Given the description of an element on the screen output the (x, y) to click on. 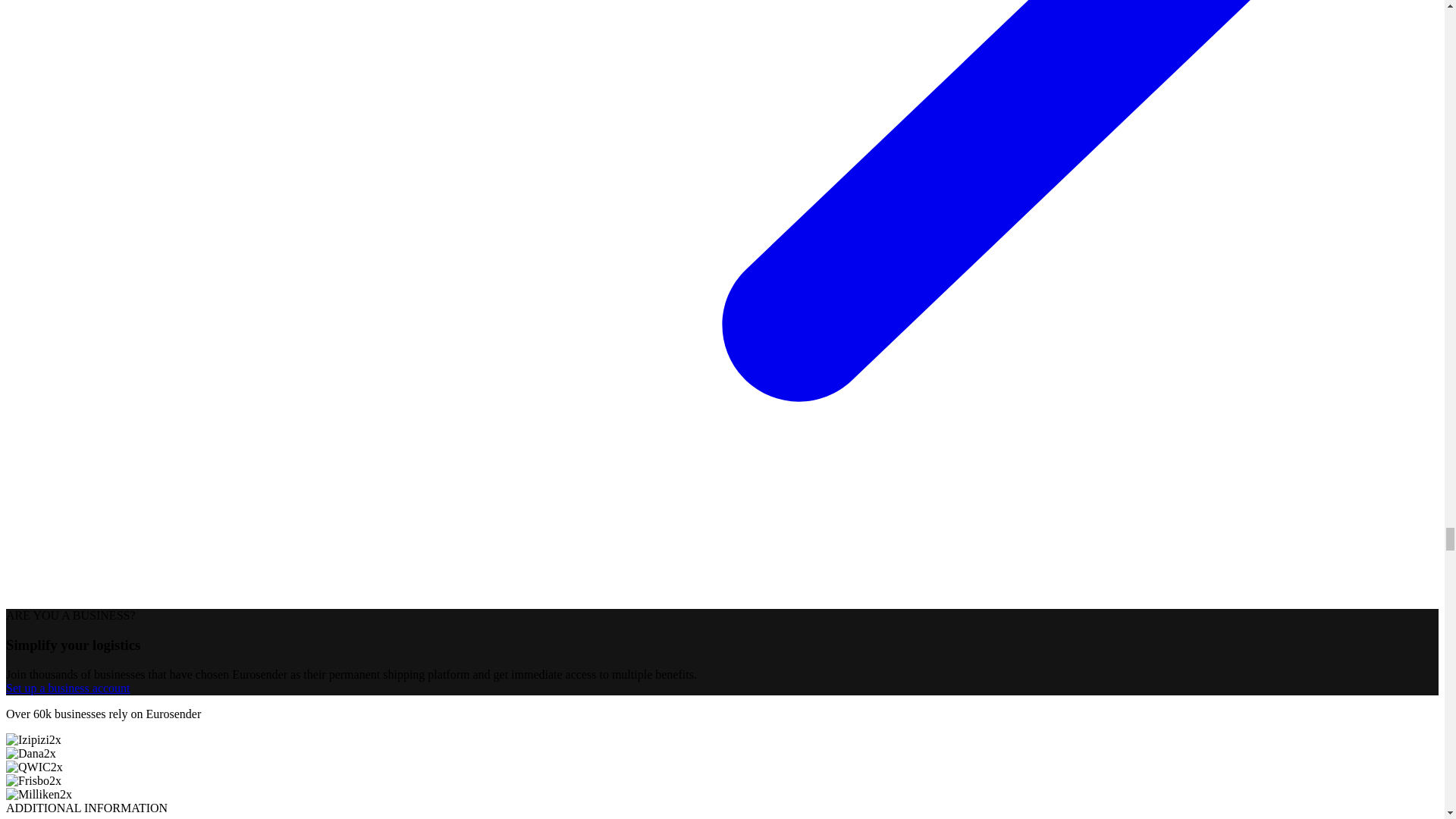
Set up a business account (68, 687)
